Given the description of an element on the screen output the (x, y) to click on. 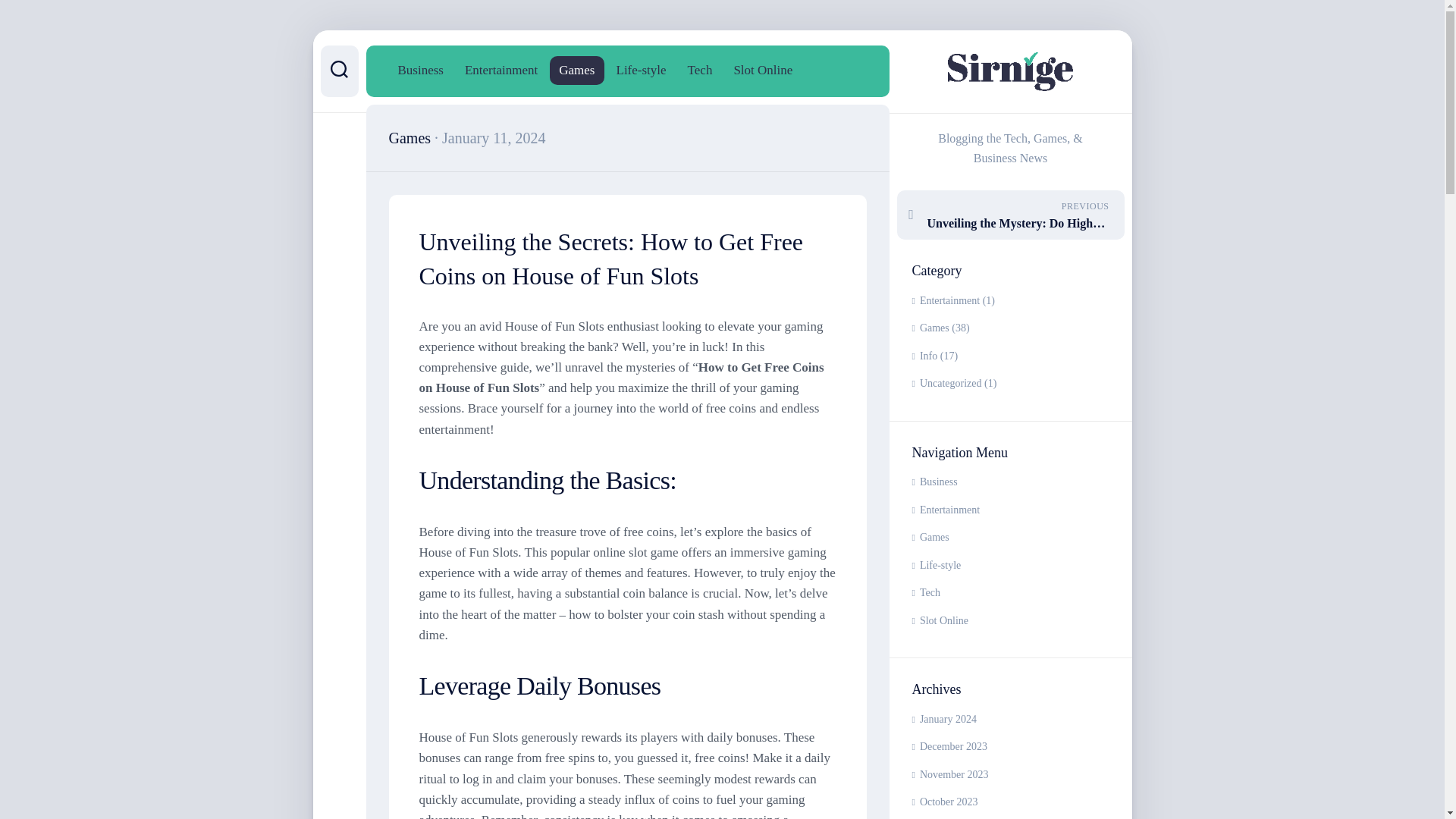
January 2024 (943, 718)
Uncategorized (946, 383)
Slot Online (1009, 621)
Entertainment (945, 300)
Tech (1009, 593)
Info (924, 355)
Games (1009, 538)
Business (419, 70)
December 2023 (949, 746)
Life-style (1009, 565)
October 2023 (943, 801)
Business (1009, 482)
Games (930, 327)
Entertainment (1009, 510)
